Given the description of an element on the screen output the (x, y) to click on. 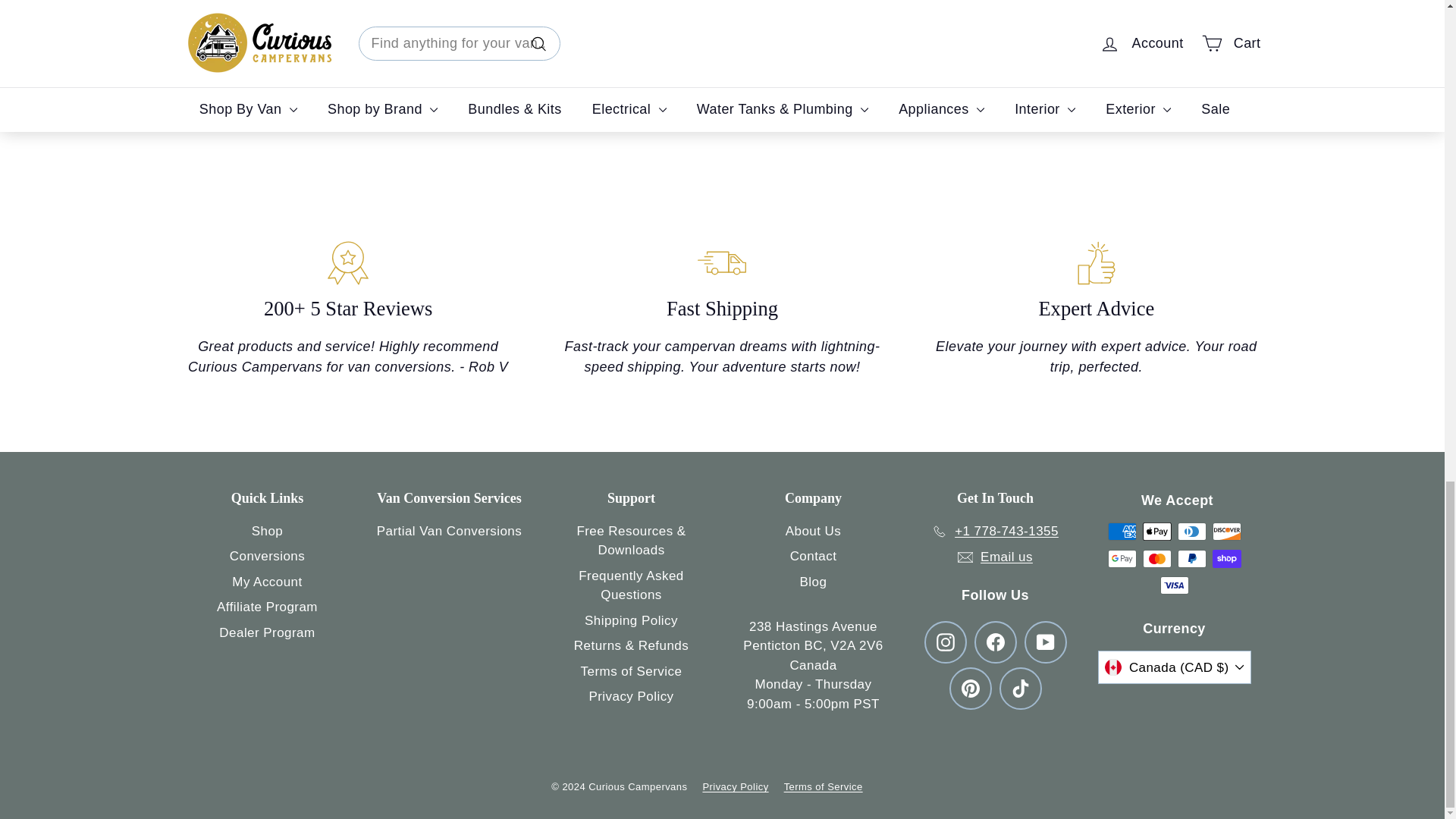
Curious Campervans on Facebook (995, 641)
Curious Campervans on TikTok (1020, 688)
Curious Campervans on Instagram (944, 641)
Curious Campervans on Pinterest (970, 688)
icon-left-arrow (609, 78)
Curious Campervans on YouTube (1044, 641)
